Given the description of an element on the screen output the (x, y) to click on. 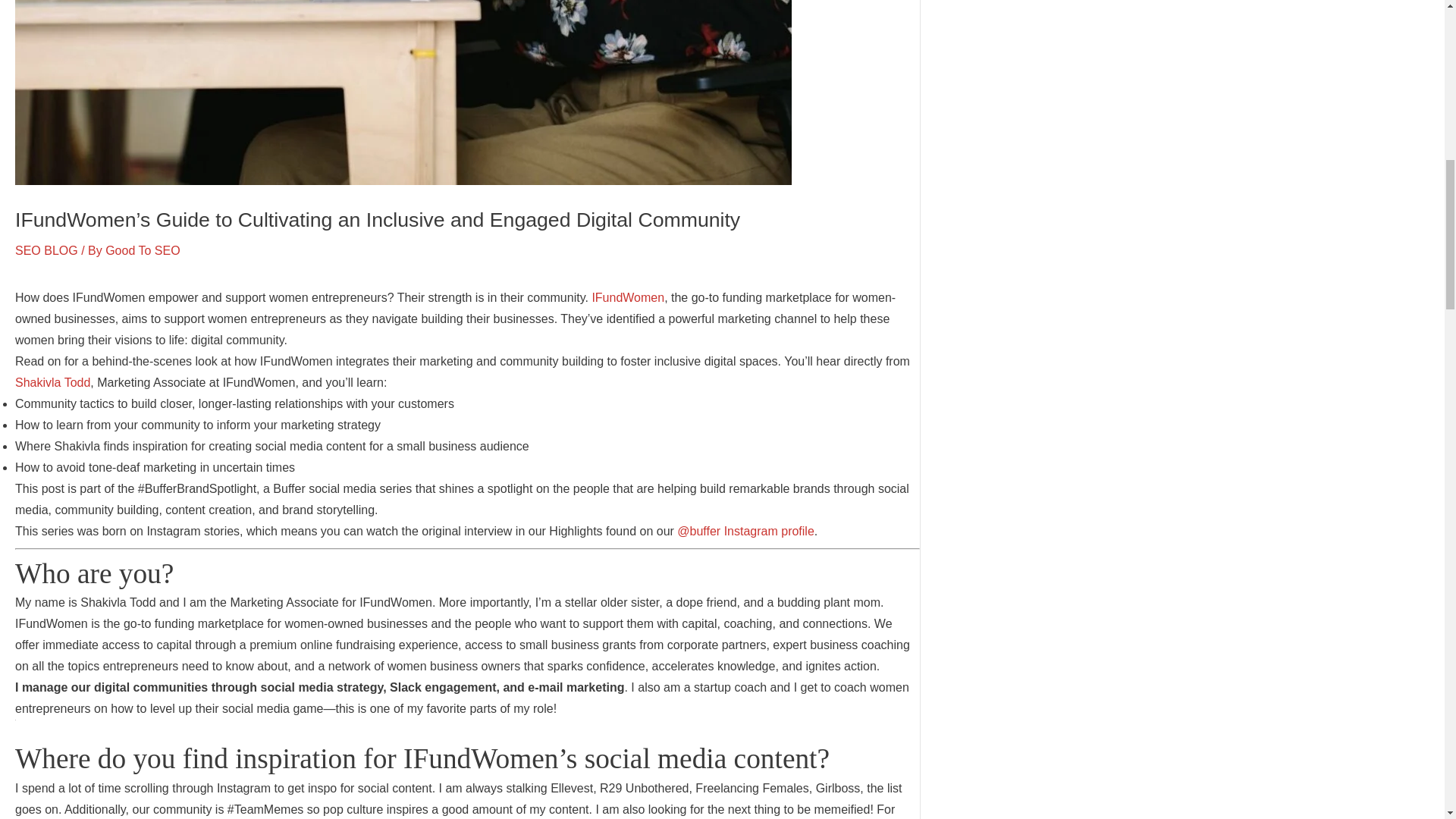
IFundWomen (627, 297)
View all posts by Good To SEO (141, 250)
SEO BLOG (46, 250)
Good To SEO (141, 250)
Shakivla Todd (52, 382)
